Given the description of an element on the screen output the (x, y) to click on. 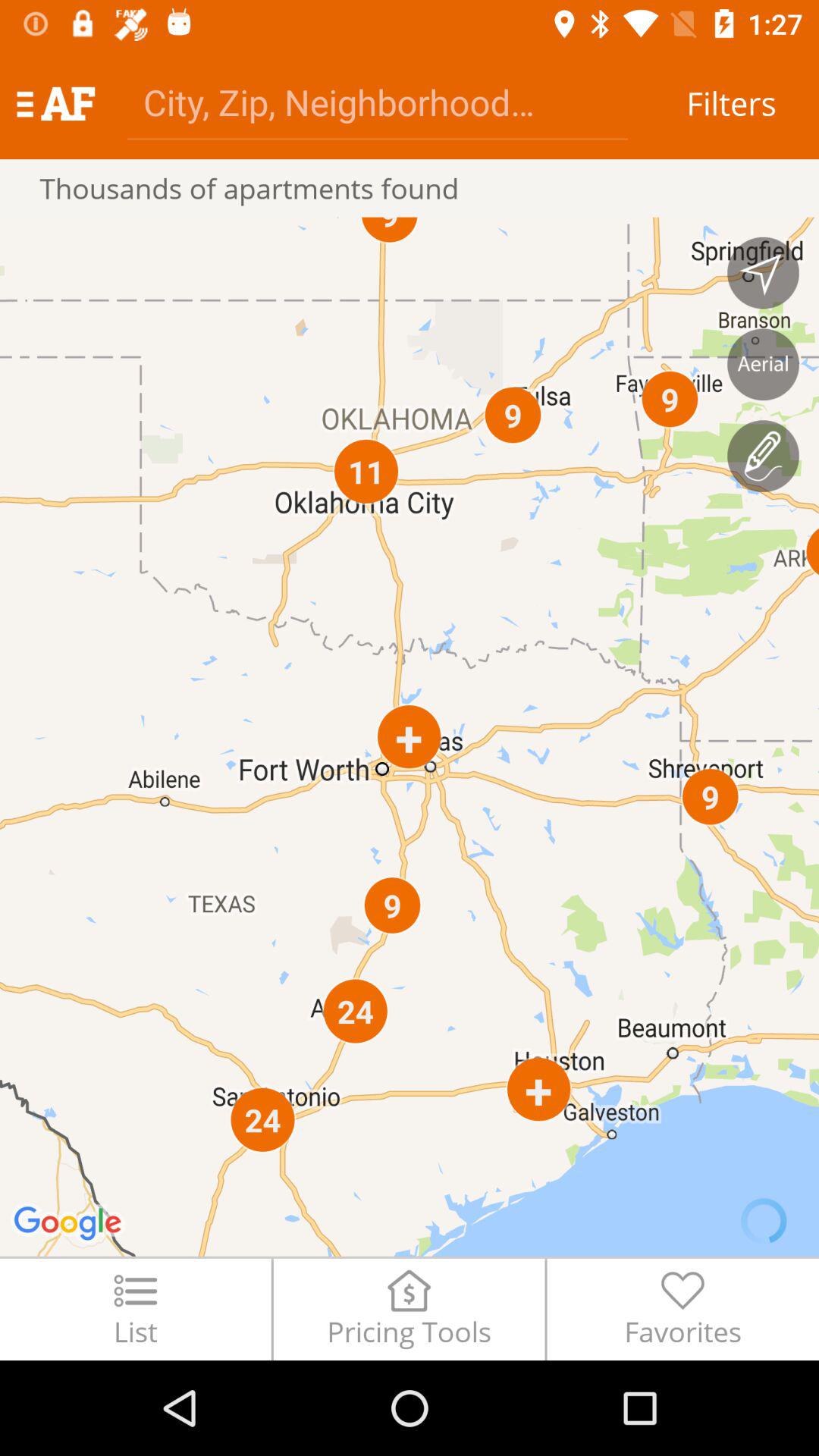
select the item below the filters item (763, 272)
